Given the description of an element on the screen output the (x, y) to click on. 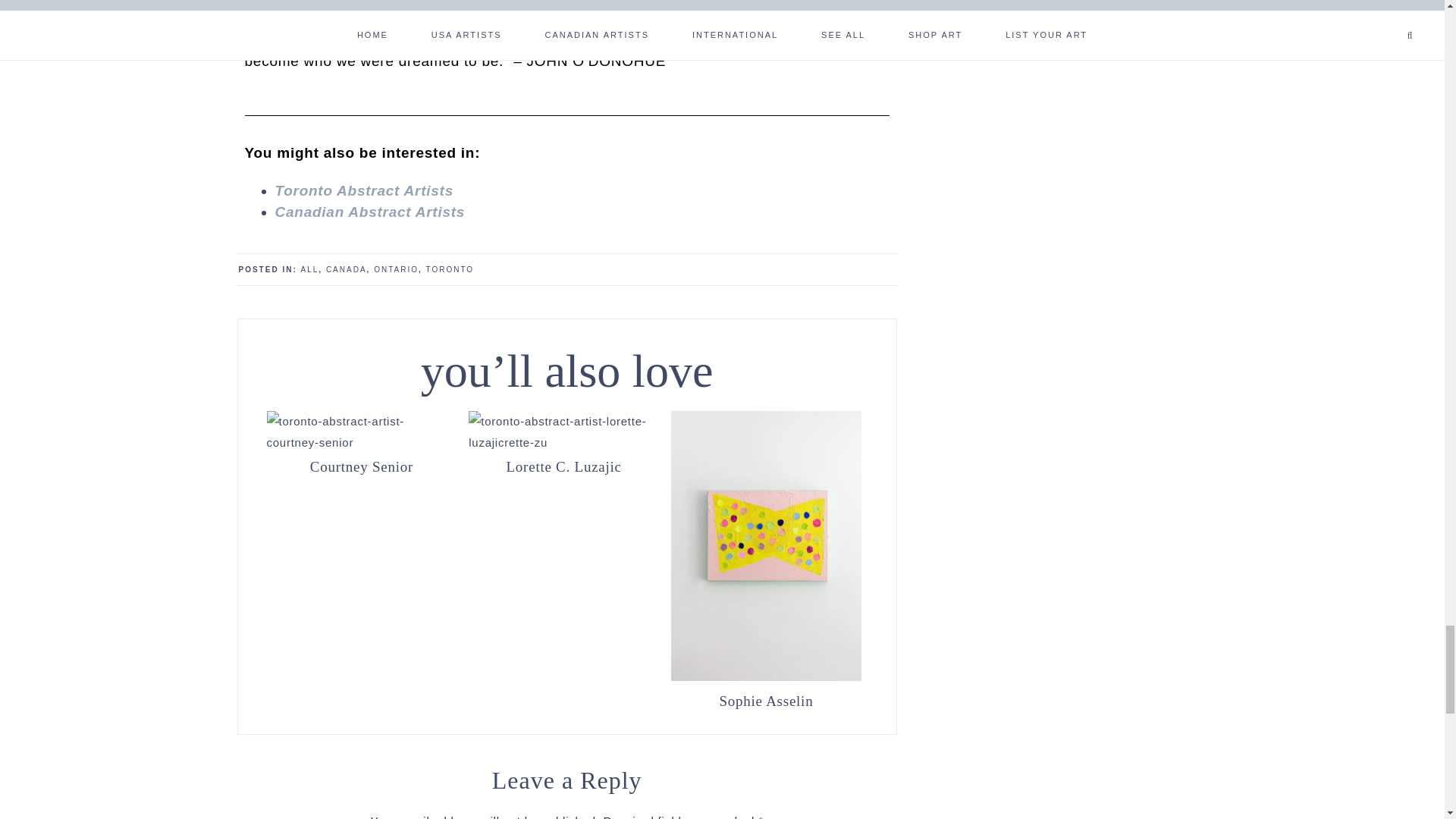
Permanent Link to Sophie Asselin (766, 699)
Permanent Link to Sophie Asselin (766, 676)
Permanent Link to Courtney Senior (361, 465)
Permanent Link to Lorette C. Luzajic (563, 441)
Permanent Link to Courtney Senior (361, 441)
Permanent Link to Lorette C. Luzajic (563, 465)
